Given the description of an element on the screen output the (x, y) to click on. 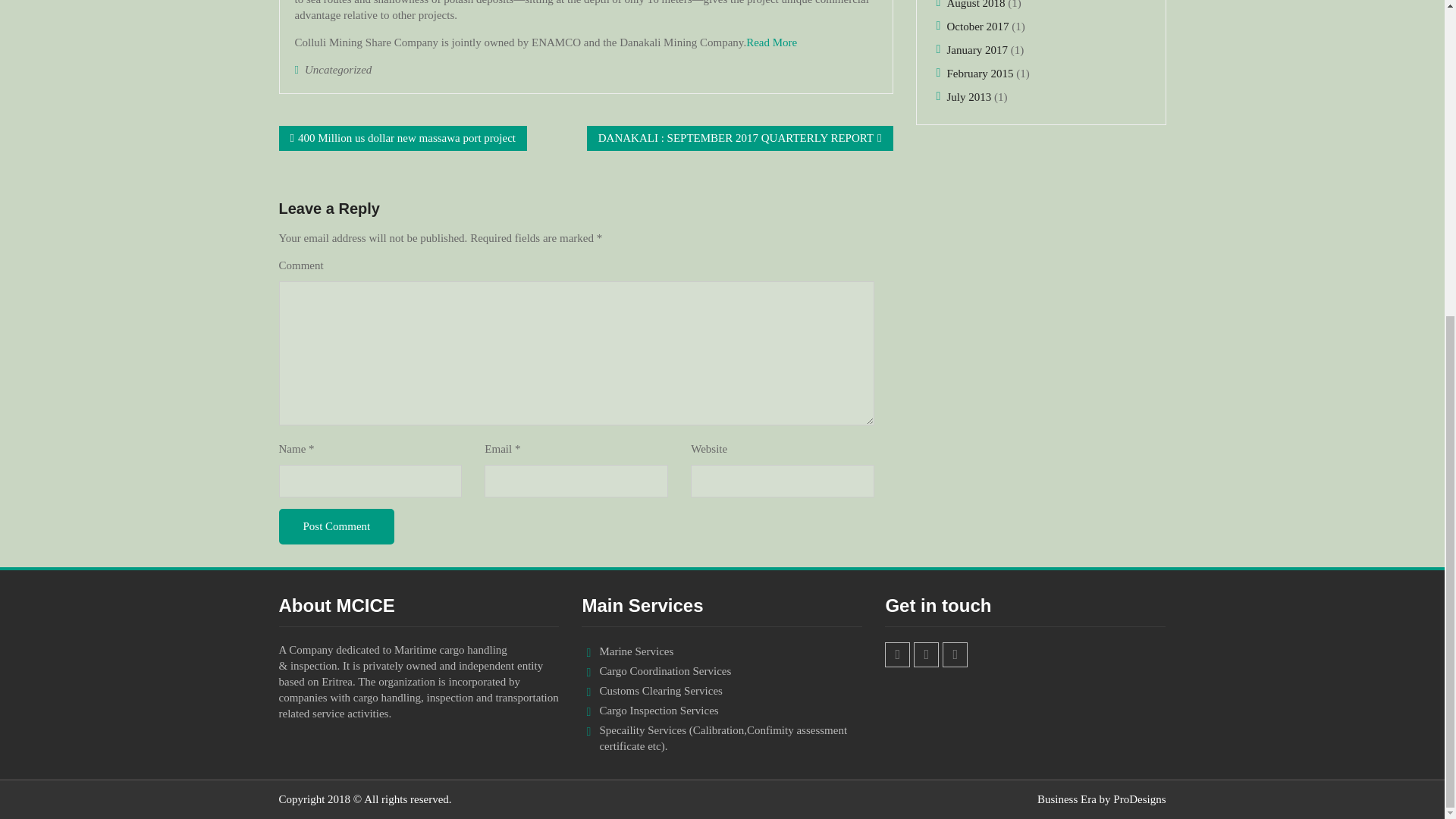
ProDesigns (1139, 799)
February 2015 (979, 73)
youtube (955, 654)
August 2018 (975, 4)
twitter (926, 654)
Post Comment (336, 526)
400 Million us dollar new massawa port project (406, 137)
Post Comment (336, 526)
Read More (770, 42)
October 2017 (977, 26)
